Given the description of an element on the screen output the (x, y) to click on. 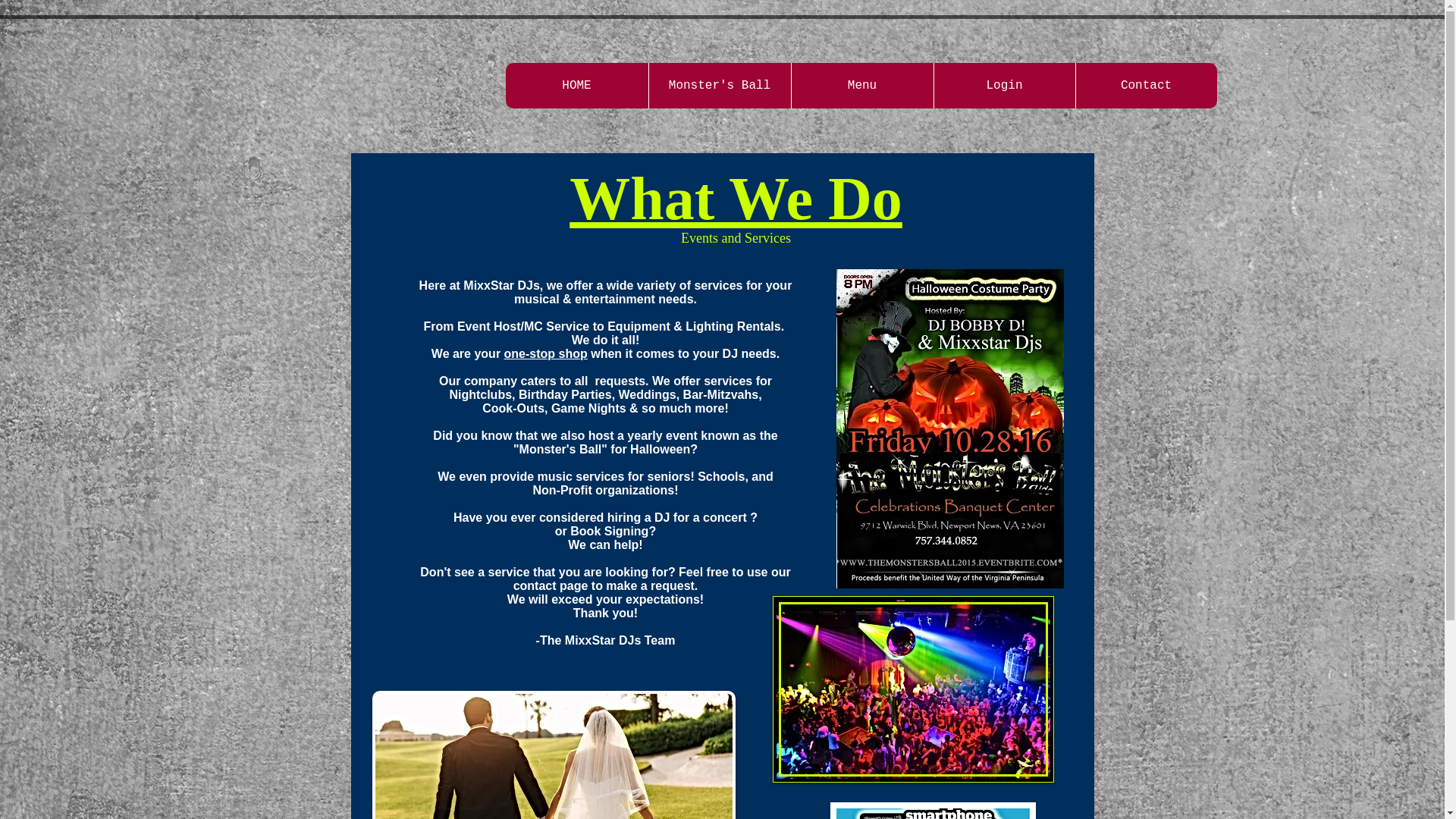
Login (1003, 85)
Contact (1146, 85)
Monster's Ball (718, 85)
HOME (576, 85)
